Given the description of an element on the screen output the (x, y) to click on. 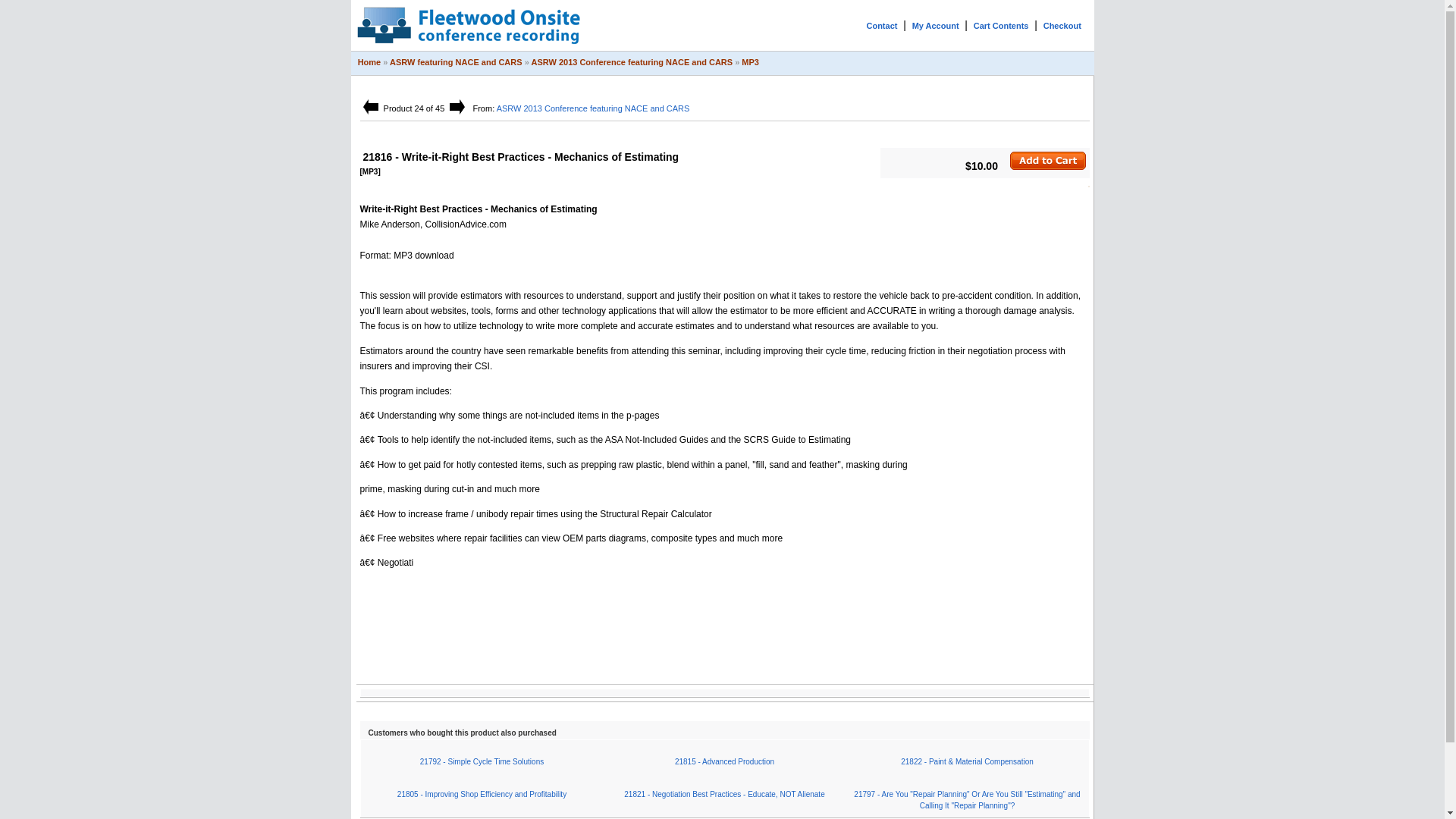
Checkout (1062, 25)
Contact (881, 25)
My Account (935, 25)
 Previous Product  (369, 106)
ASRW 2013 Conference featuring NACE and CARS (593, 108)
21821 - Negotiation Best Practices - Educate, NOT Alienate (724, 794)
MP3 (749, 61)
 Add to Cart  (1048, 160)
ASRW 2013 Conference featuring NACE and CARS (631, 61)
Home (369, 61)
ASRW featuring NACE and CARS (456, 61)
Cart Contents (1001, 25)
21805 - Improving Shop Efficiency and Profitability (481, 794)
